Given the description of an element on the screen output the (x, y) to click on. 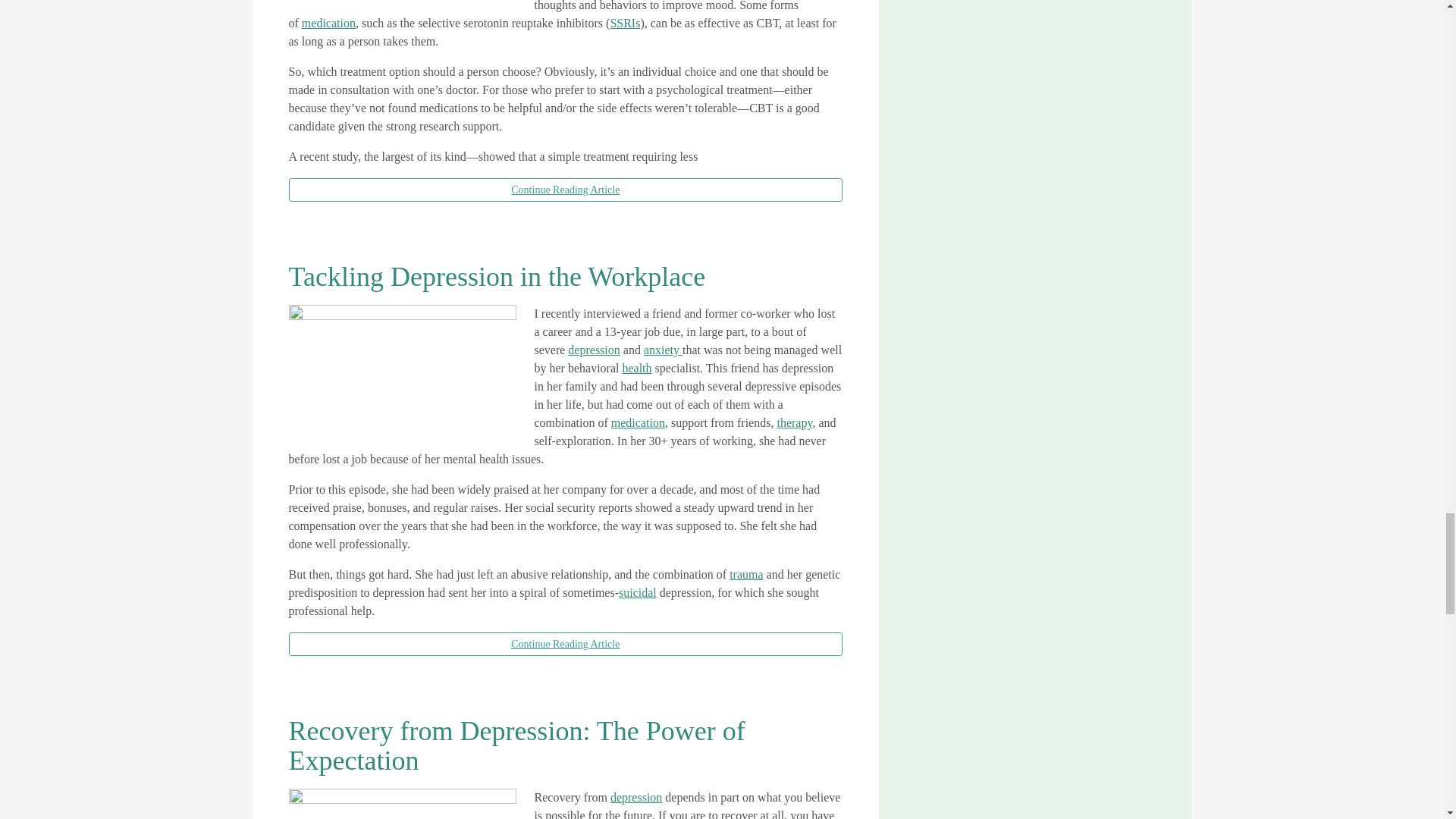
Psychology Today looks at depression (593, 349)
